Given the description of an element on the screen output the (x, y) to click on. 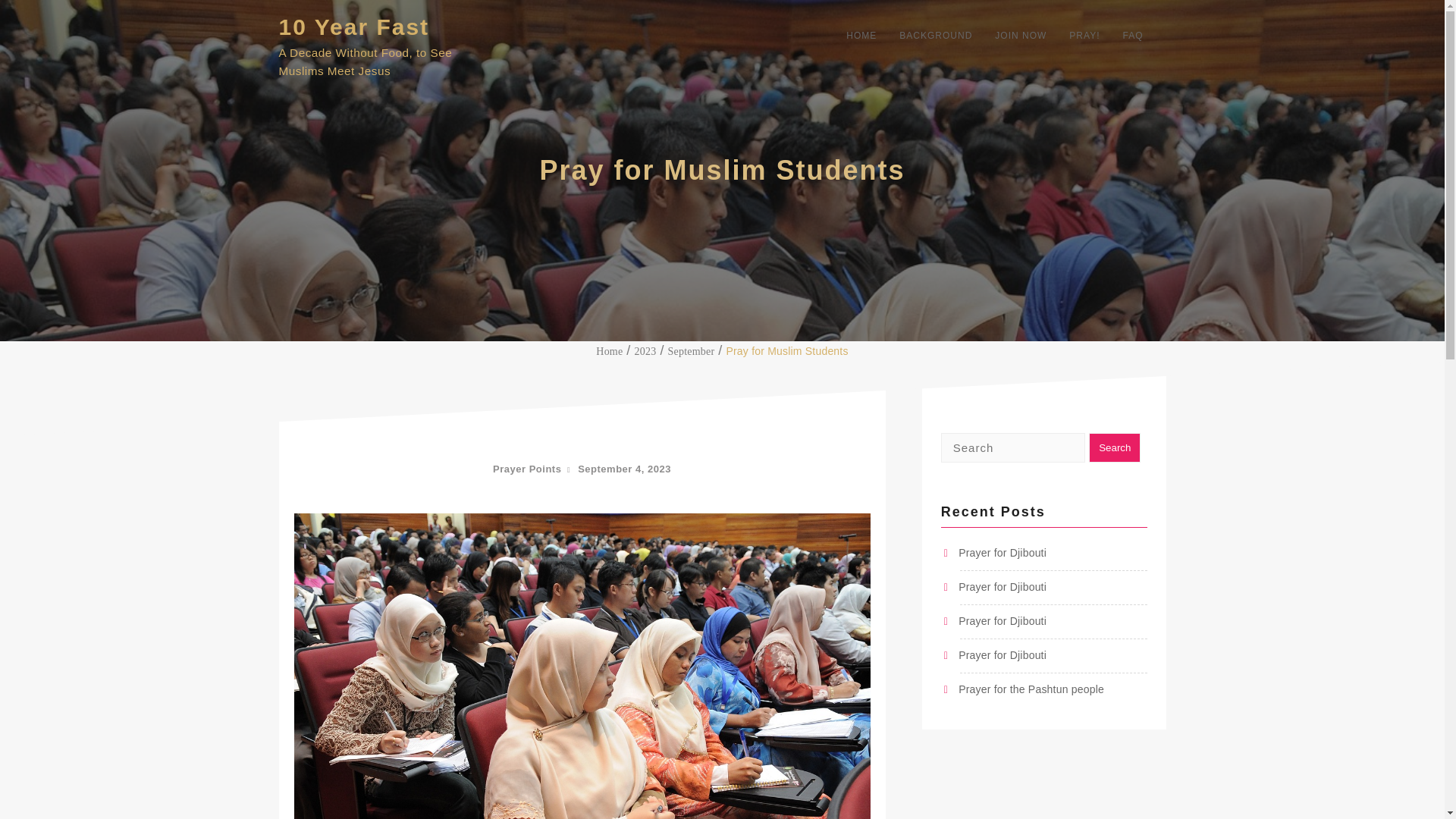
Prayer for Djibouti (1002, 552)
Prayer Points (526, 469)
Prayer for Djibouti (1002, 654)
September (691, 351)
PRAY! (1083, 35)
10 Year Fast (354, 26)
Prayer for the Pashtun people (1030, 689)
2023 (645, 351)
Search (1114, 447)
Prayer for Djibouti (1002, 621)
